Given the description of an element on the screen output the (x, y) to click on. 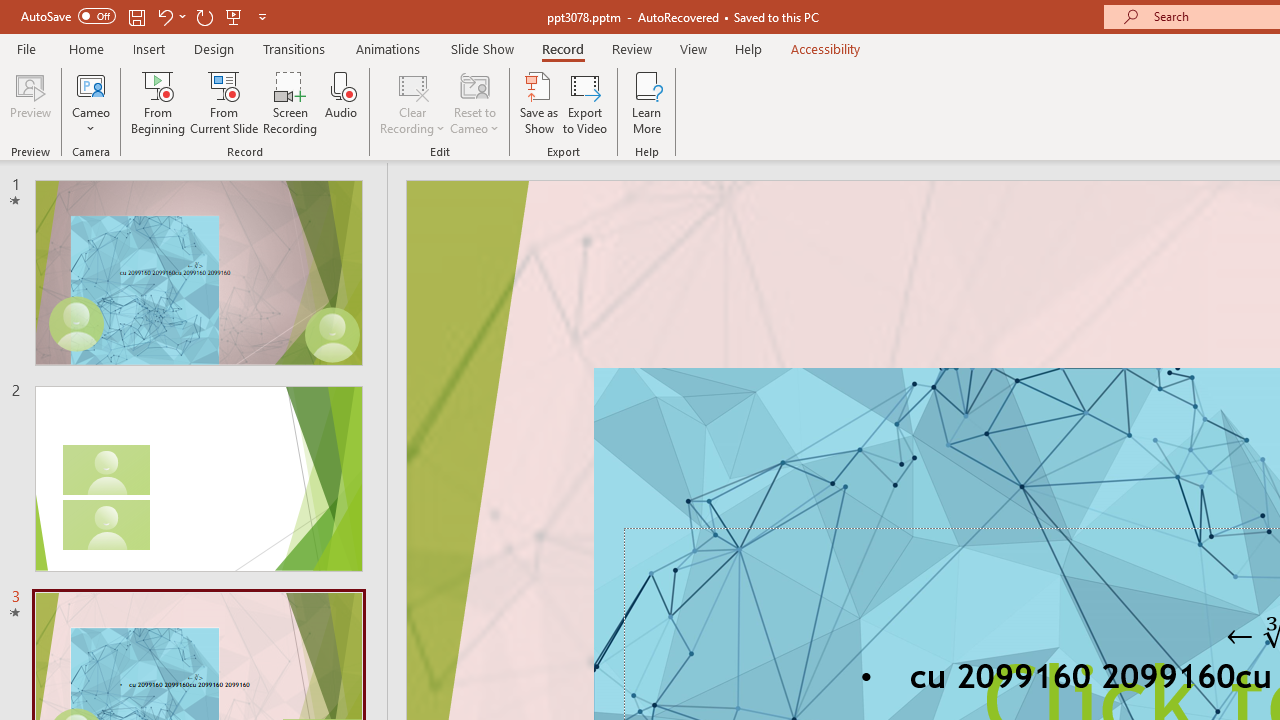
Reset to Cameo (474, 102)
Cameo (91, 84)
Screen Recording (290, 102)
Save as Show (539, 102)
